Given the description of an element on the screen output the (x, y) to click on. 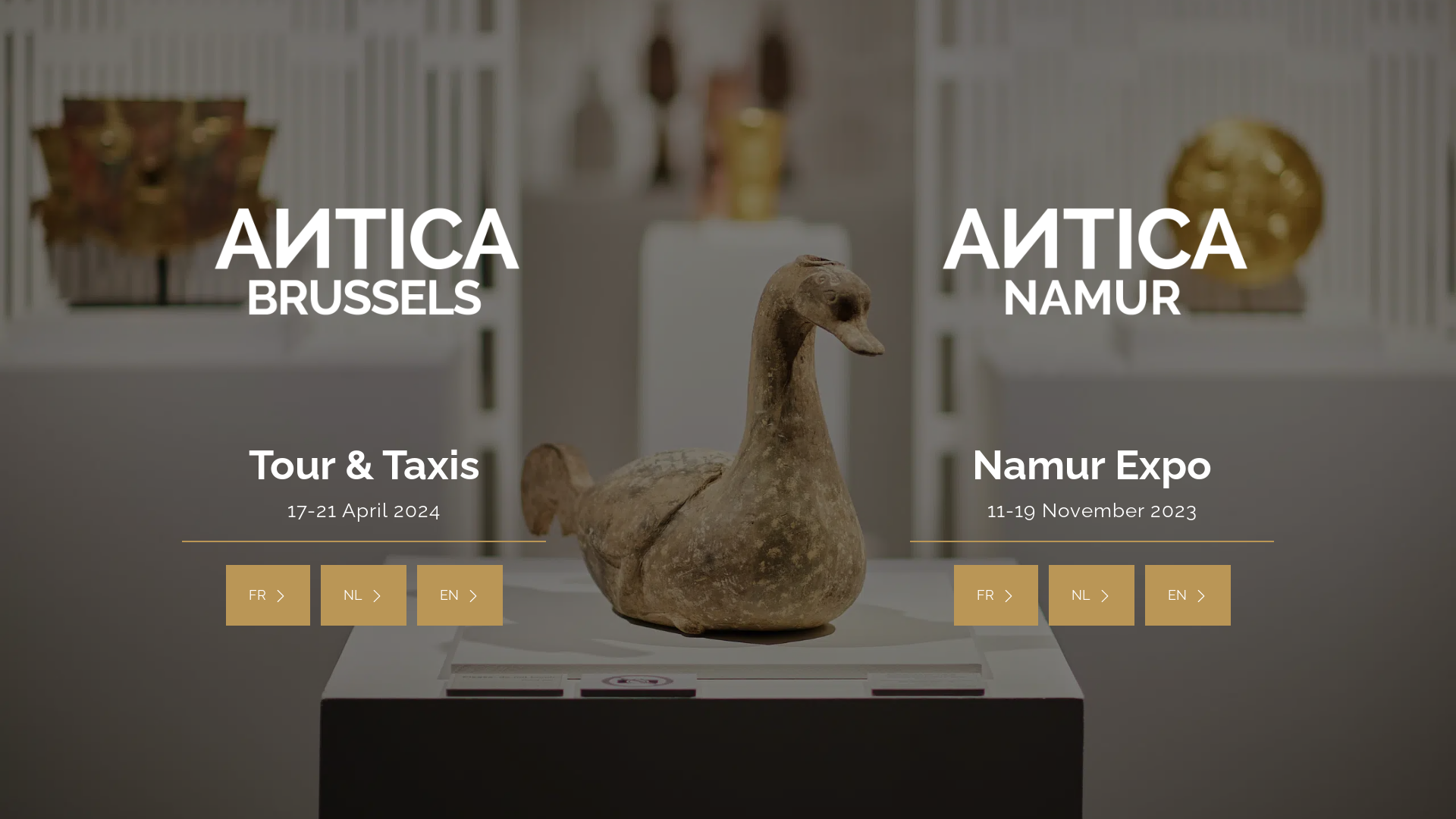
EN Element type: text (459, 594)
FR Element type: text (995, 594)
EN Element type: text (1187, 594)
FR Element type: text (267, 594)
NL Element type: text (1090, 594)
NL Element type: text (362, 594)
